Given the description of an element on the screen output the (x, y) to click on. 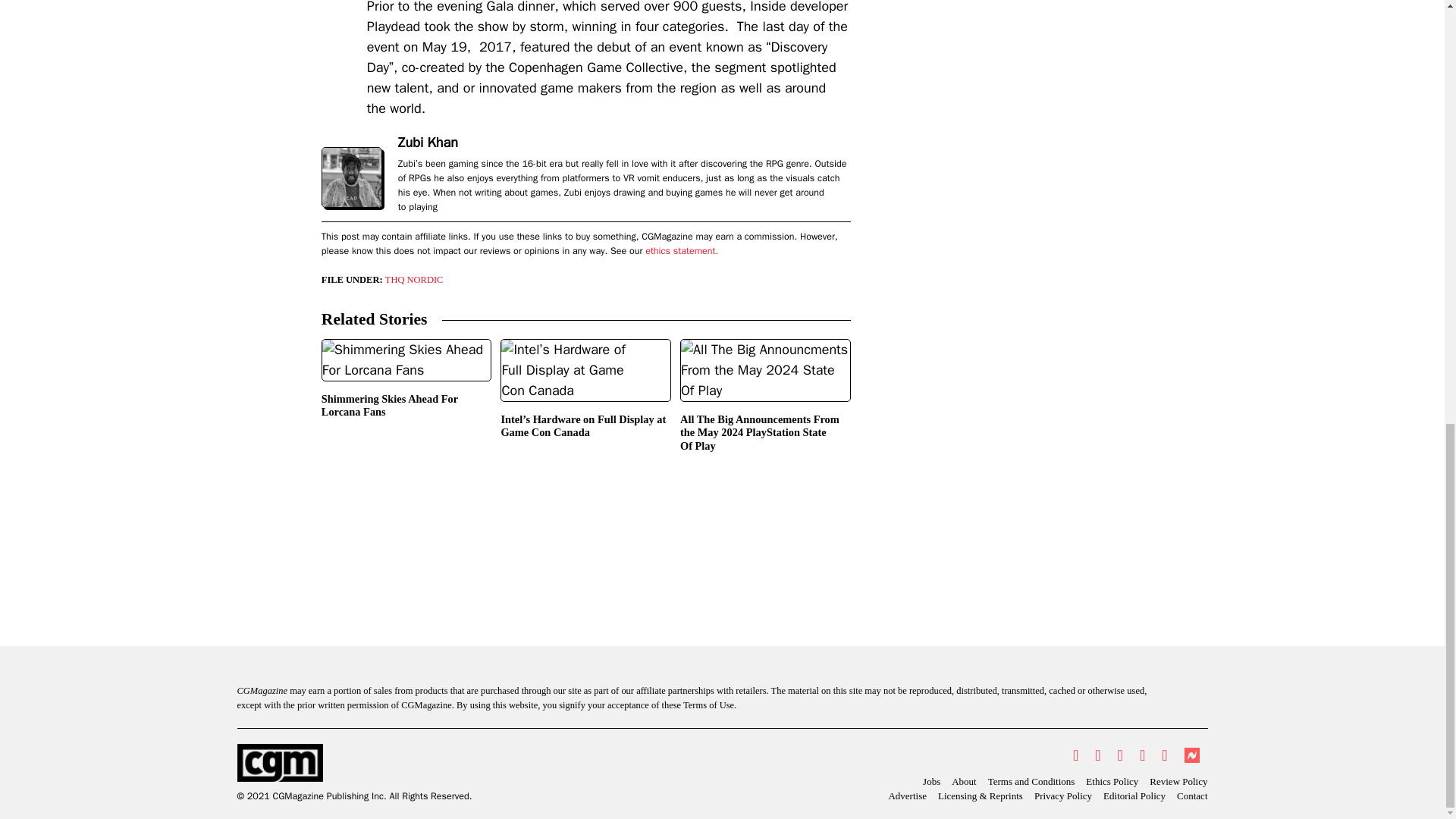
Zubi Khan (427, 142)
Twitter Profile (1075, 754)
Flipboard Page (1163, 754)
NewsBreak (1190, 754)
YouTube Page (1142, 754)
Instagram Profile (1120, 754)
Facebook Page (1097, 754)
CGMagazine (353, 762)
